Given the description of an element on the screen output the (x, y) to click on. 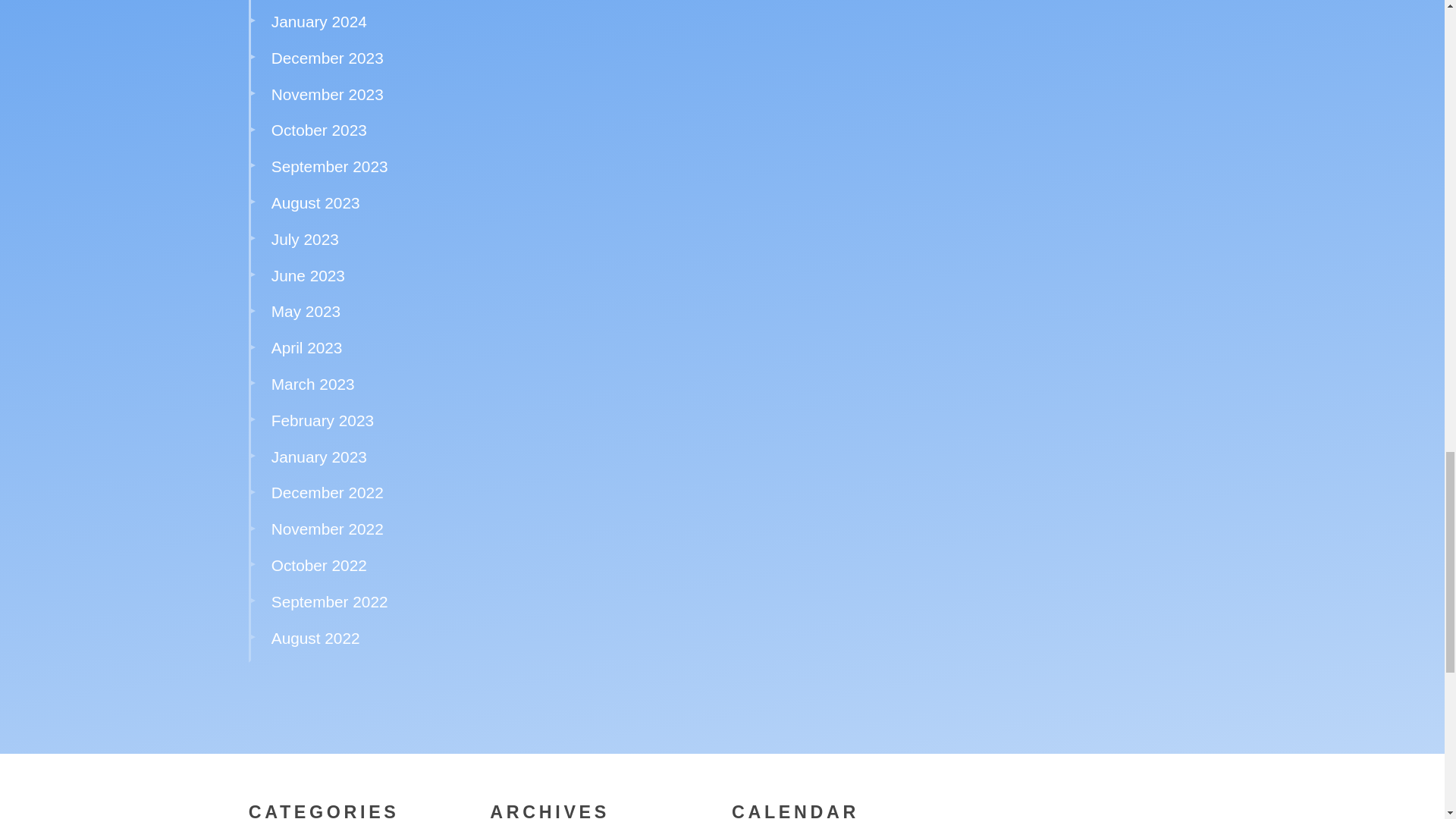
March 2023 (312, 384)
August 2022 (314, 638)
May 2023 (305, 311)
December 2022 (327, 492)
September 2023 (329, 166)
October 2022 (318, 565)
October 2023 (318, 129)
August 2023 (314, 202)
February 2023 (322, 420)
January 2024 (318, 21)
